Given the description of an element on the screen output the (x, y) to click on. 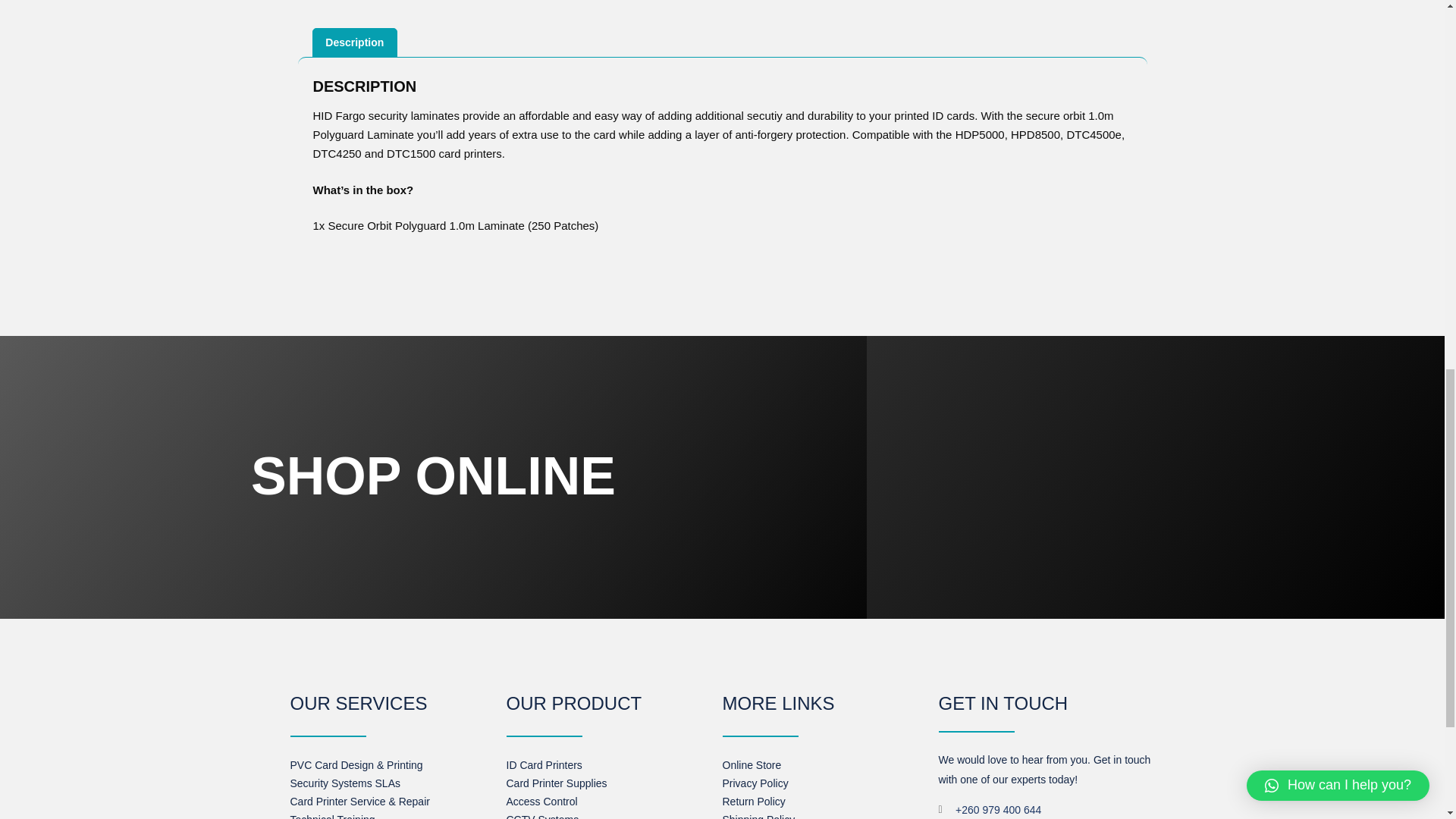
CCTV Systems (542, 816)
ID Card Printers (544, 765)
Technical Training (331, 816)
Access Control (542, 801)
Security Systems SLAs (344, 783)
Description (354, 42)
Card Printer Supplies (556, 783)
